Given the description of an element on the screen output the (x, y) to click on. 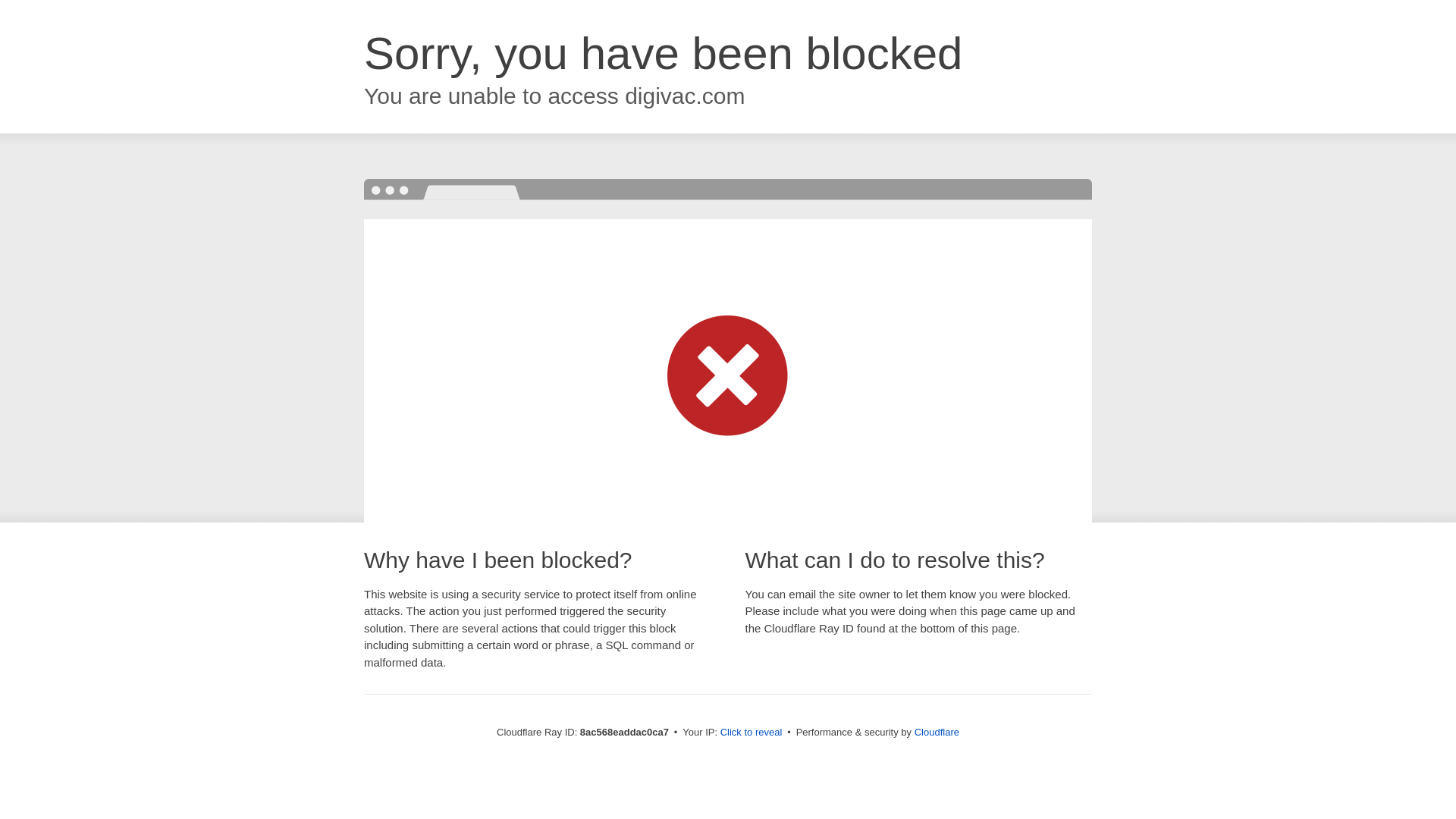
Click to reveal (751, 732)
Cloudflare (936, 731)
